Given the description of an element on the screen output the (x, y) to click on. 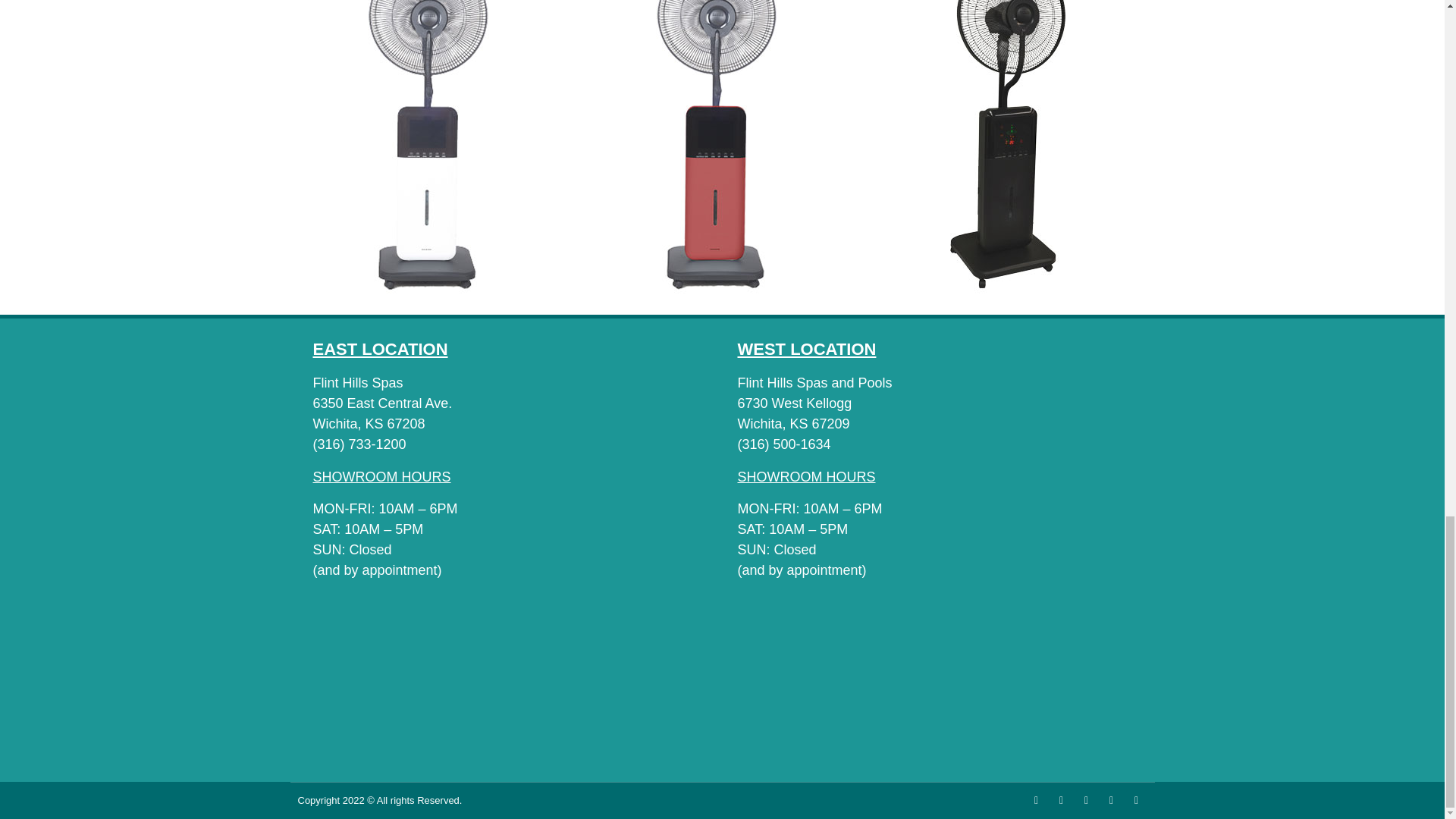
6350 East Central Ave. Wichita, KS 67208 (509, 683)
Click here for a map (358, 382)
Click here for a map (813, 382)
6730 West Kellogg Wichita, KS 67209 (933, 683)
